Given the description of an element on the screen output the (x, y) to click on. 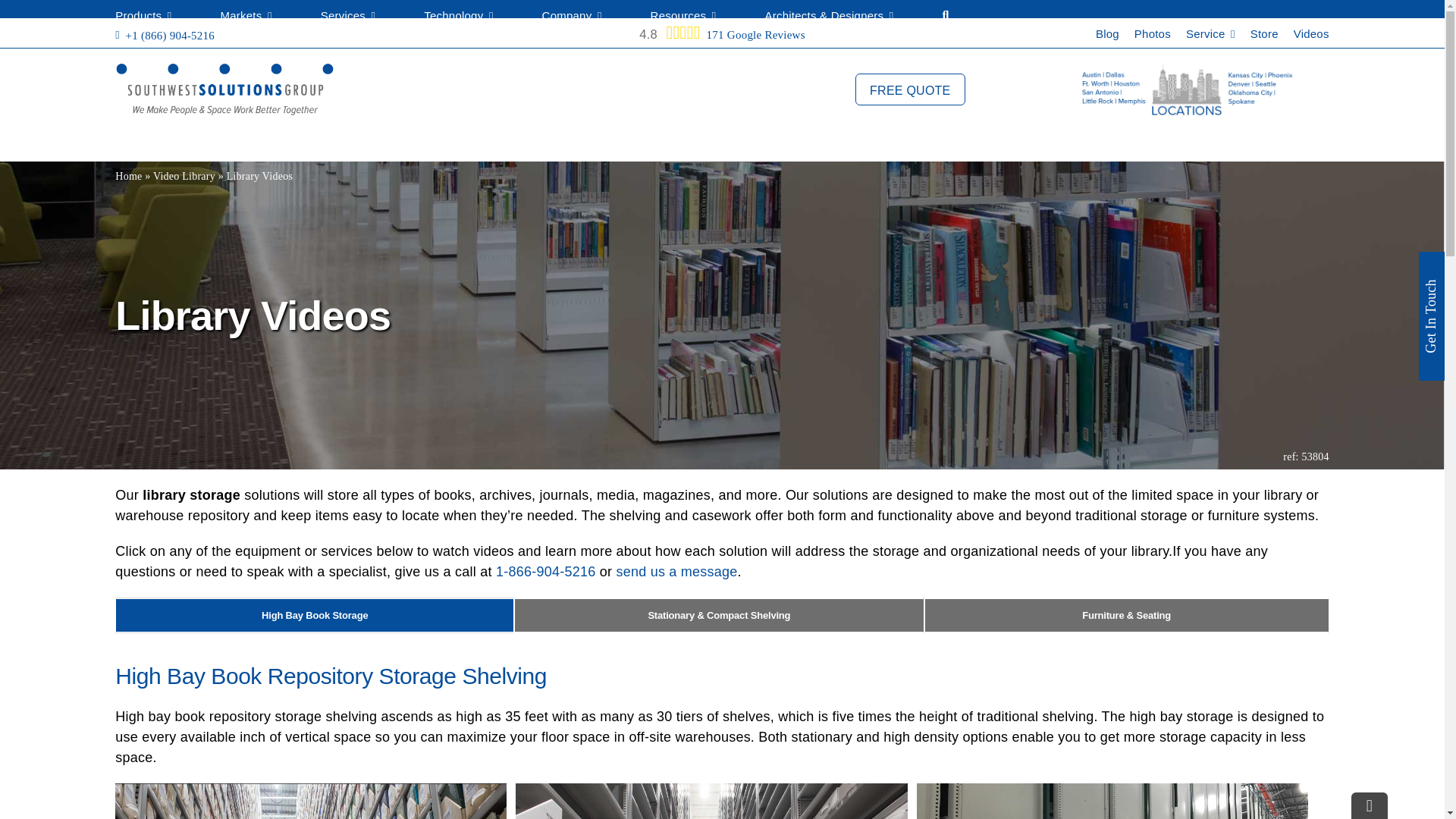
Service (1210, 33)
Find a local office (1192, 89)
Products (143, 19)
FREE QUOTE (909, 89)
